Given the description of an element on the screen output the (x, y) to click on. 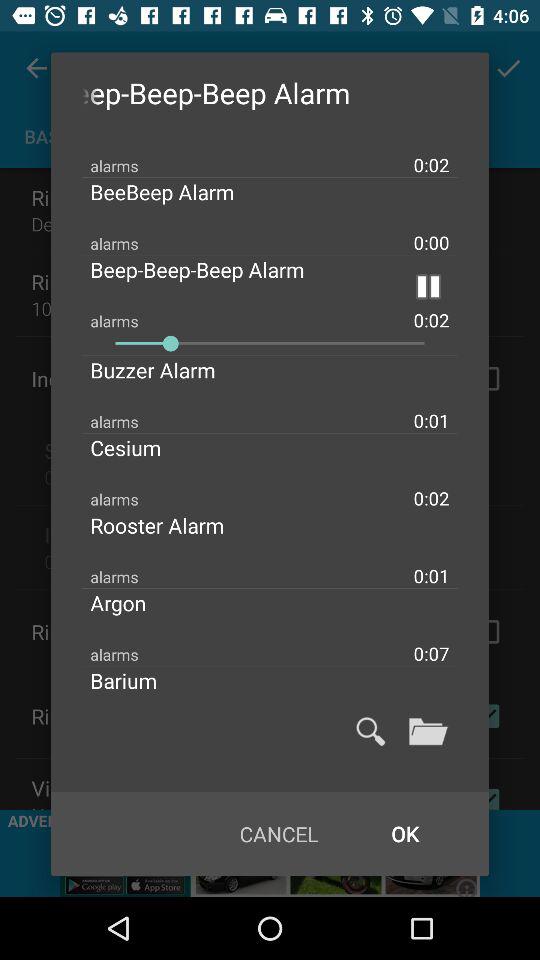
turn on the item above alarms (169, 369)
